Given the description of an element on the screen output the (x, y) to click on. 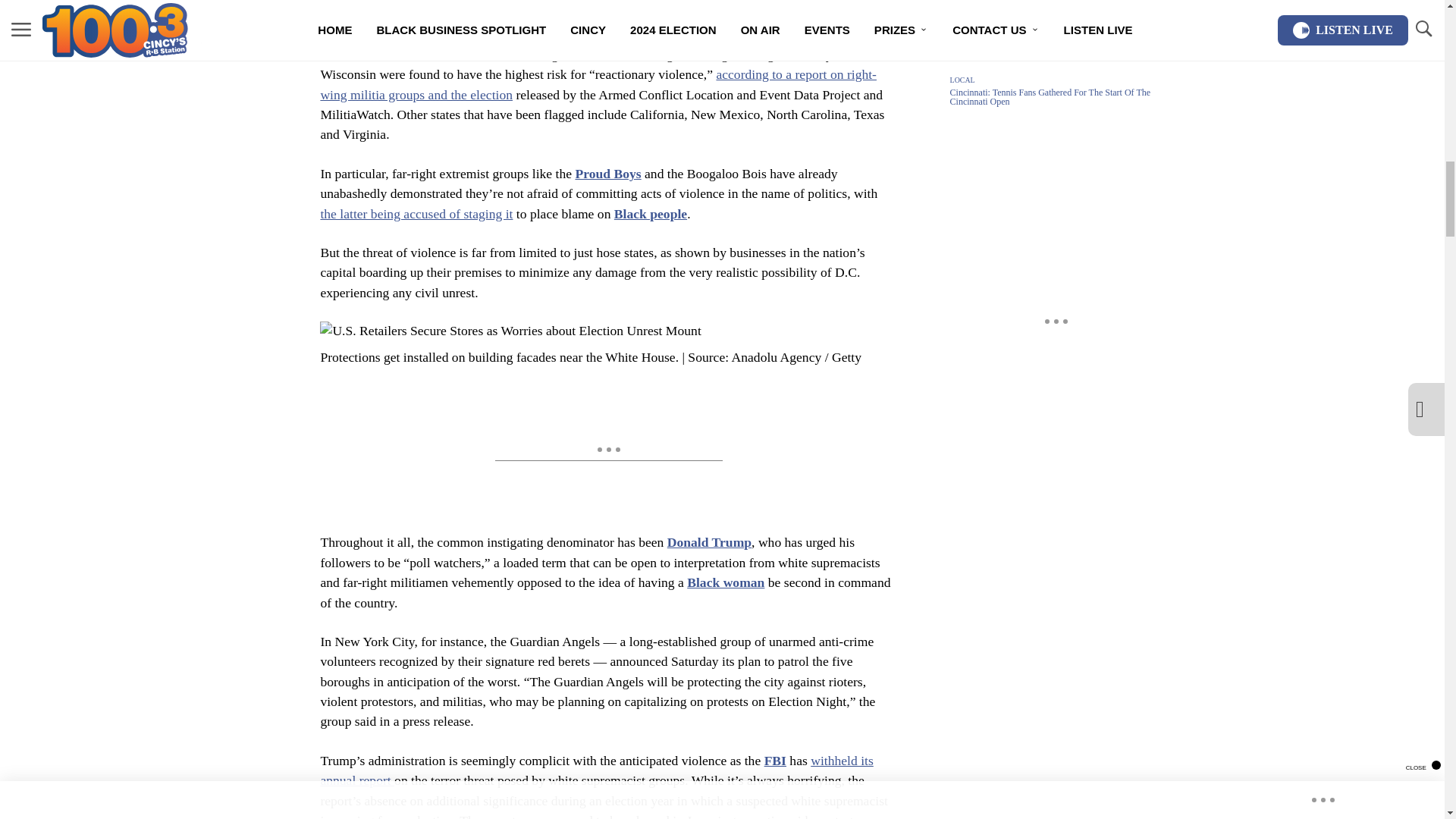
FBI (775, 760)
Black woman (725, 581)
Donald Trump (708, 541)
Proud Boys (607, 173)
Black people (650, 213)
the latter being accused of staging it (416, 213)
